Given the description of an element on the screen output the (x, y) to click on. 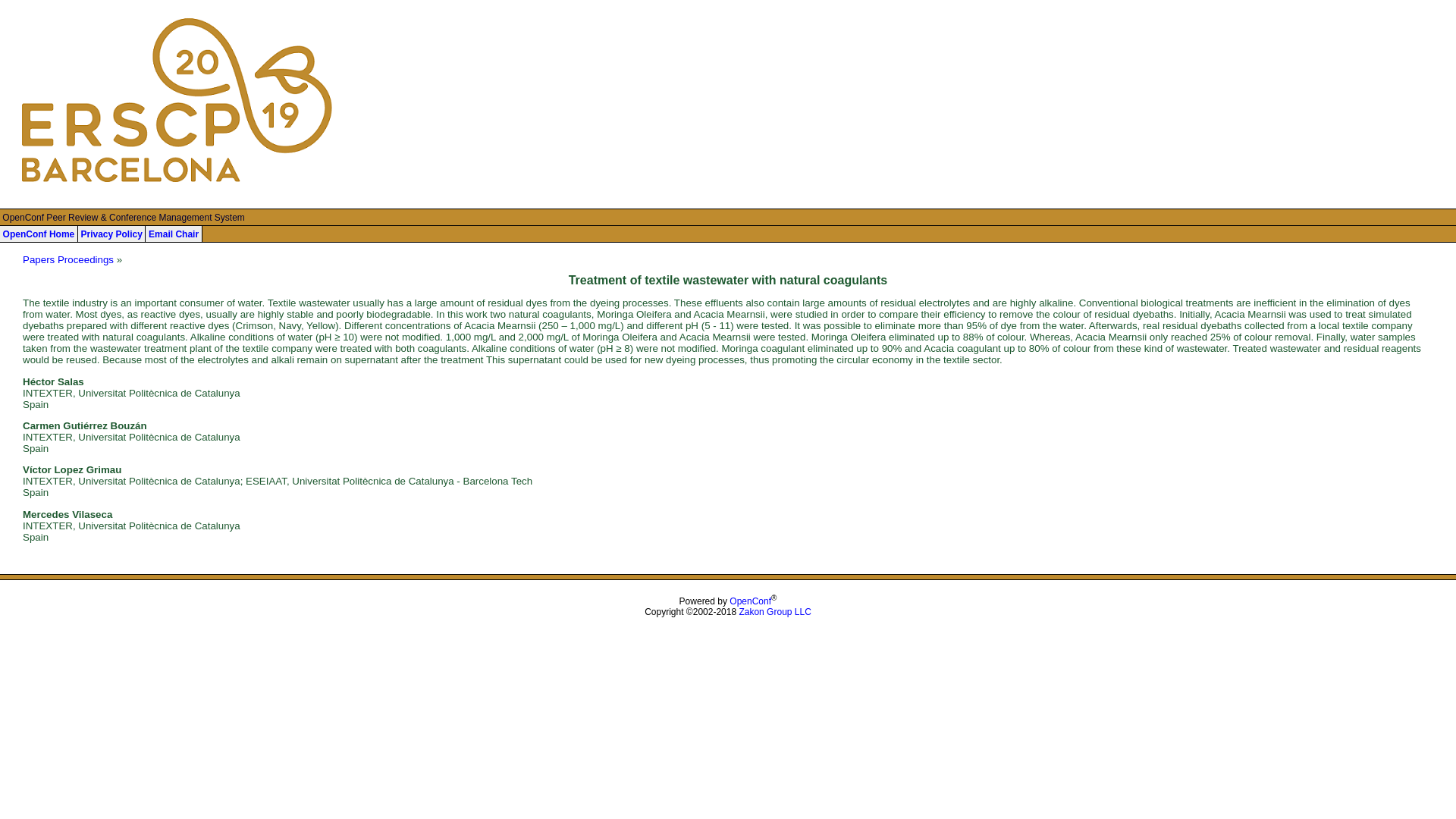
OpenConf Home (38, 234)
OpenConf (750, 601)
Privacy Policy (110, 234)
Papers Proceedings (68, 259)
Email Chair (173, 234)
